Given the description of an element on the screen output the (x, y) to click on. 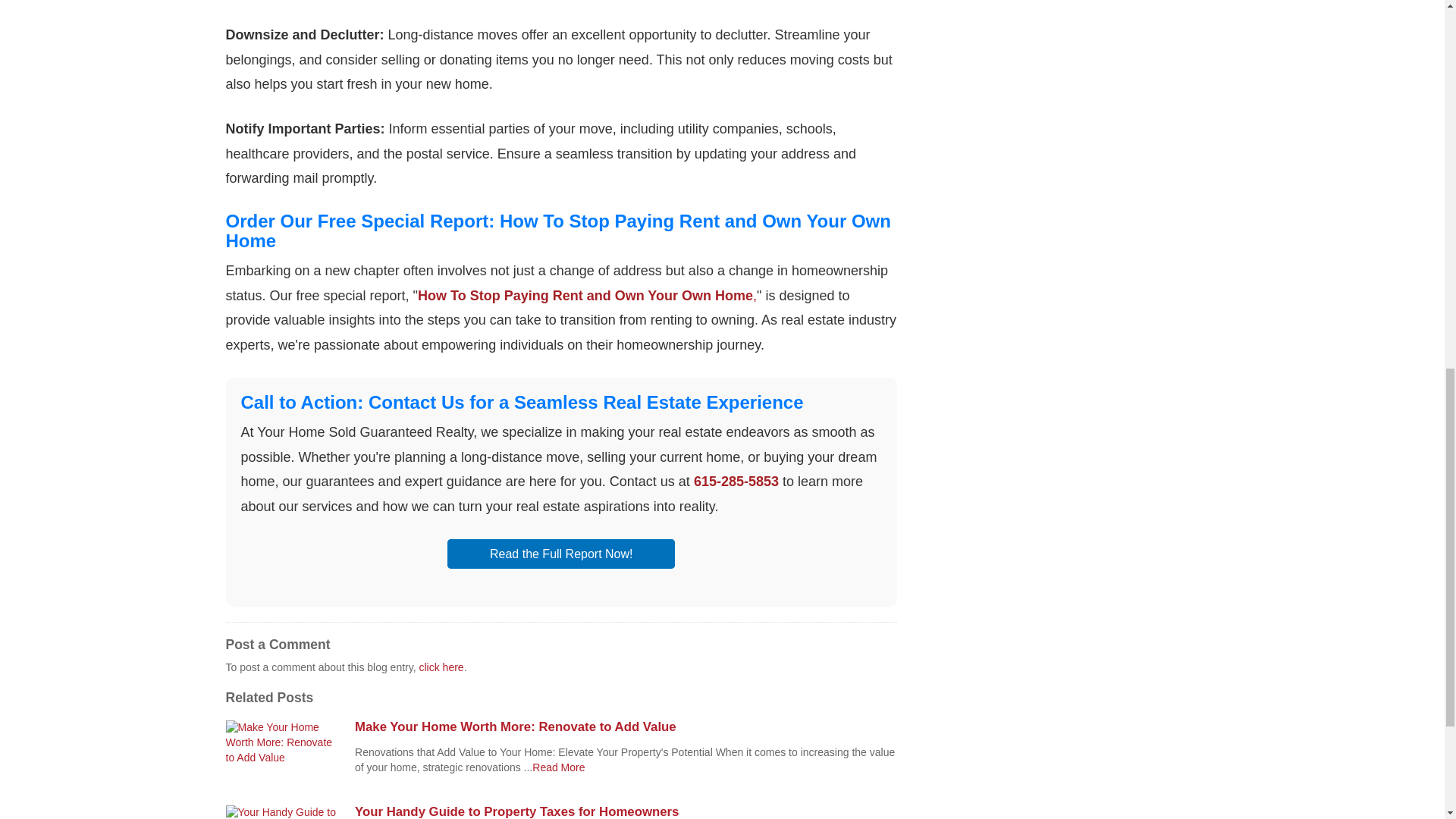
Making a Long-Distance Move: What You Need to Know (558, 767)
Your Handy Guide to Property Taxes for Homeowners (625, 812)
Make Your Home Worth More: Renovate to Add Value (625, 726)
